Given the description of an element on the screen output the (x, y) to click on. 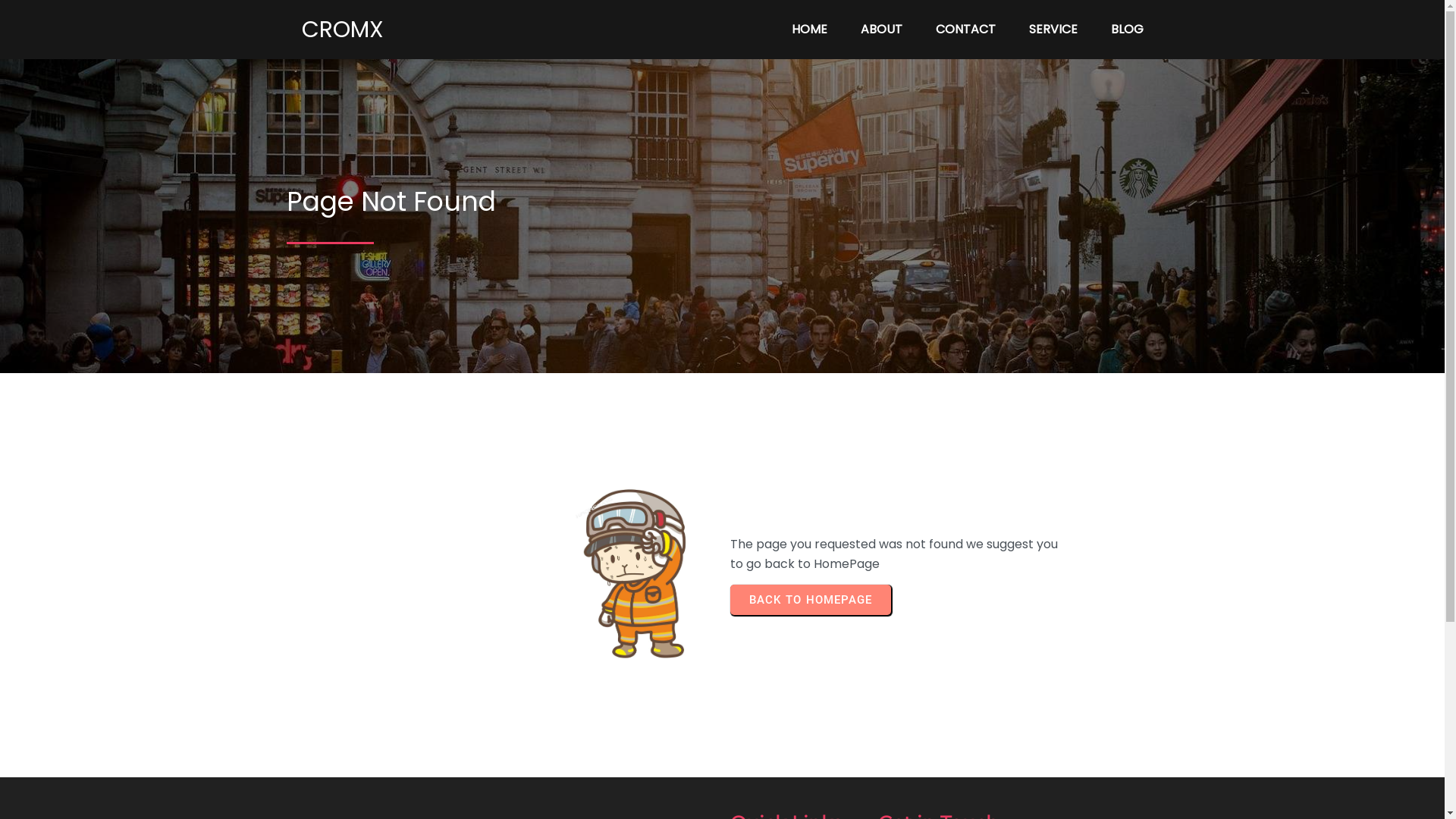
BLOG Element type: text (1126, 29)
HOME Element type: text (809, 29)
CROMX Element type: text (411, 29)
SERVICE Element type: text (1052, 29)
CONTACT Element type: text (965, 29)
BACK TO HOMEPAGE Element type: text (809, 599)
ABOUT Element type: text (880, 29)
